Given the description of an element on the screen output the (x, y) to click on. 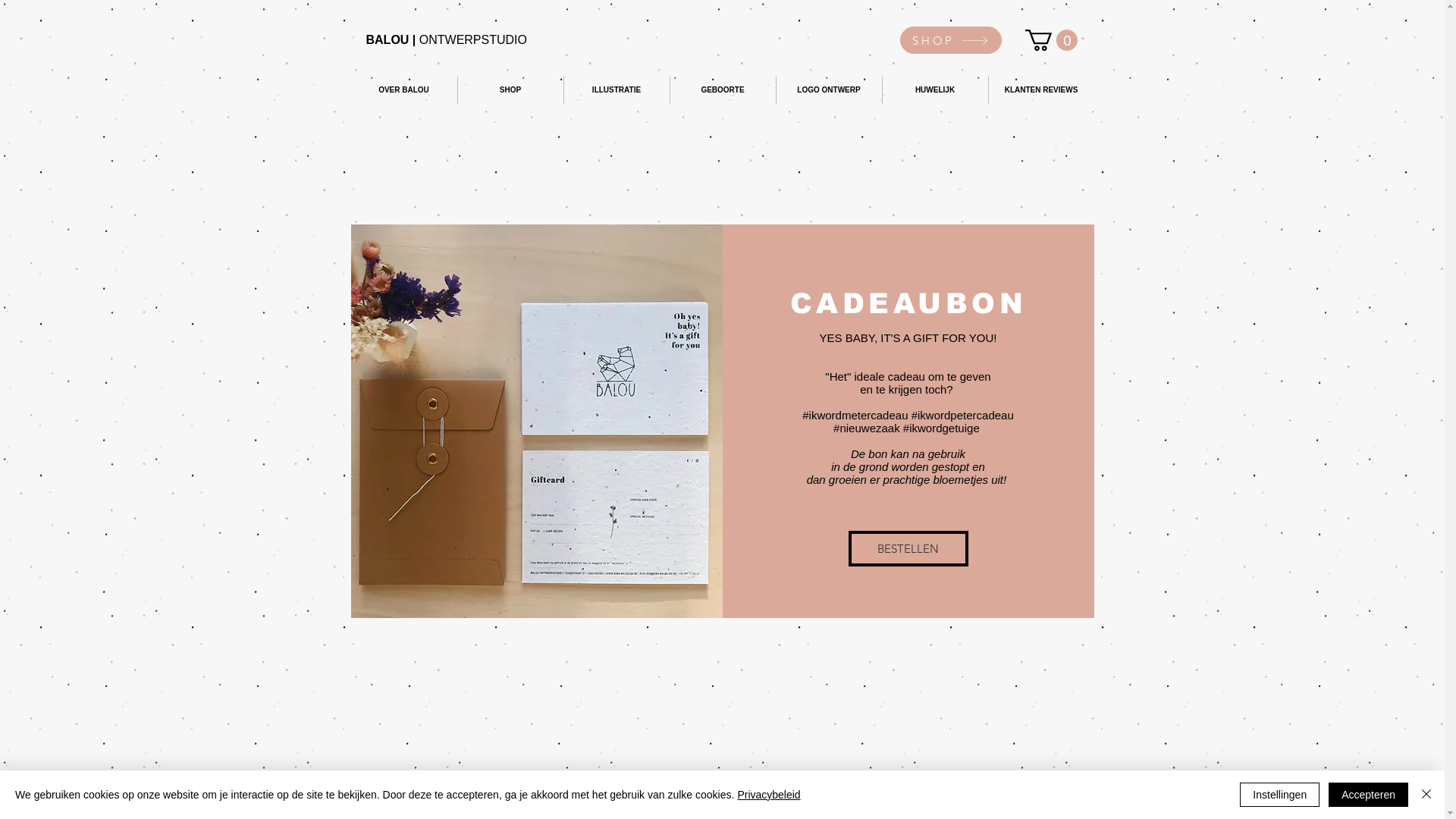
SHOP Element type: text (950, 39)
Instellingen Element type: text (1279, 794)
0 Element type: text (1051, 39)
BESTELLEN Element type: text (907, 548)
Privacybeleid Element type: text (768, 794)
BALOU | ONTWERPSTUDIO Element type: text (445, 39)
OVER BALOU Element type: text (403, 89)
Accepteren Element type: text (1368, 794)
